Given the description of an element on the screen output the (x, y) to click on. 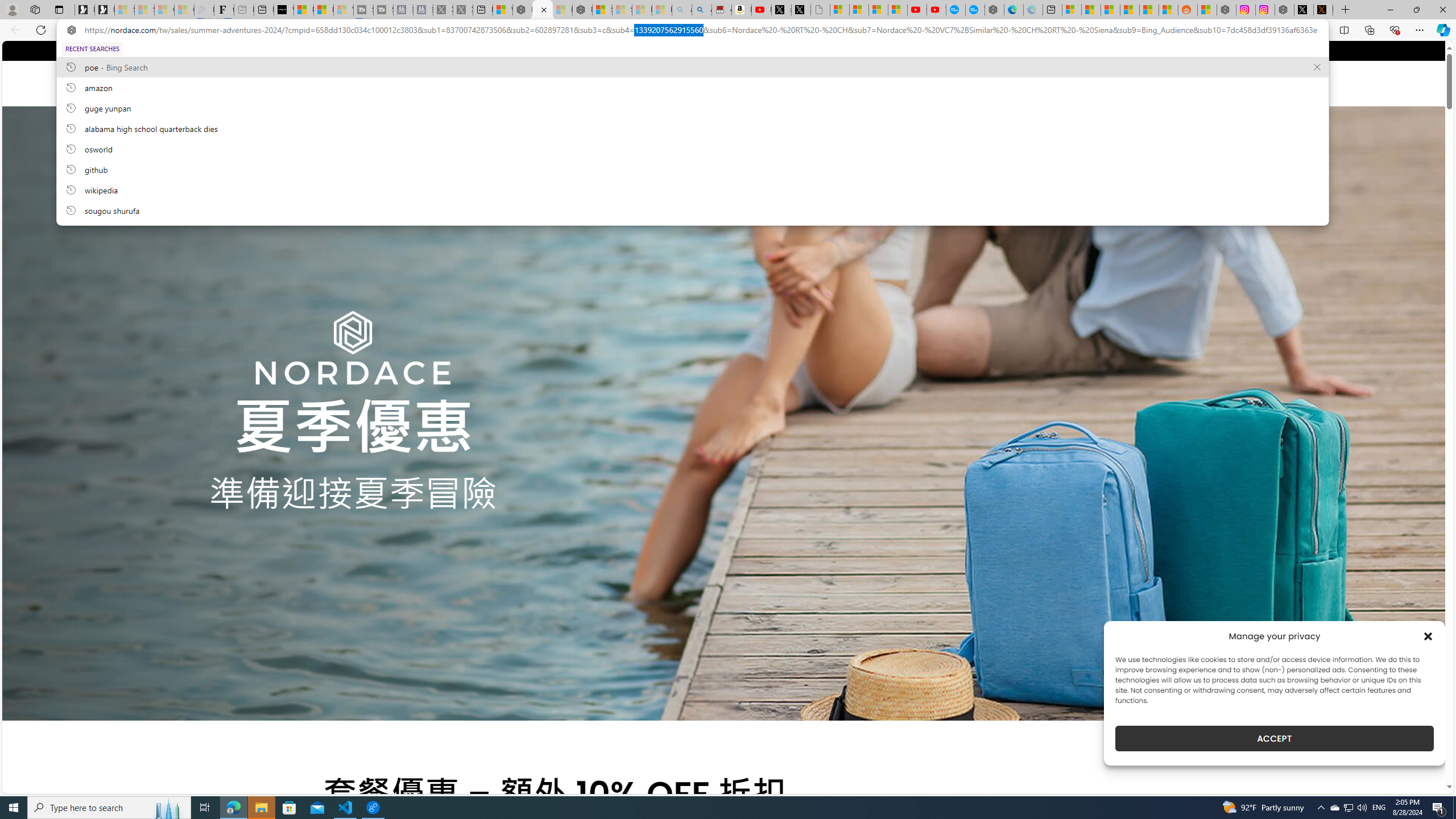
Remove suggestion (1316, 66)
Follow on Instagram (338, 50)
What's the best AI voice generator? - voice.ai (283, 9)
Follow on YouTube (371, 50)
Collections (1369, 29)
Close (1442, 9)
guge yunpan, recent searches from history (691, 107)
